Given the description of an element on the screen output the (x, y) to click on. 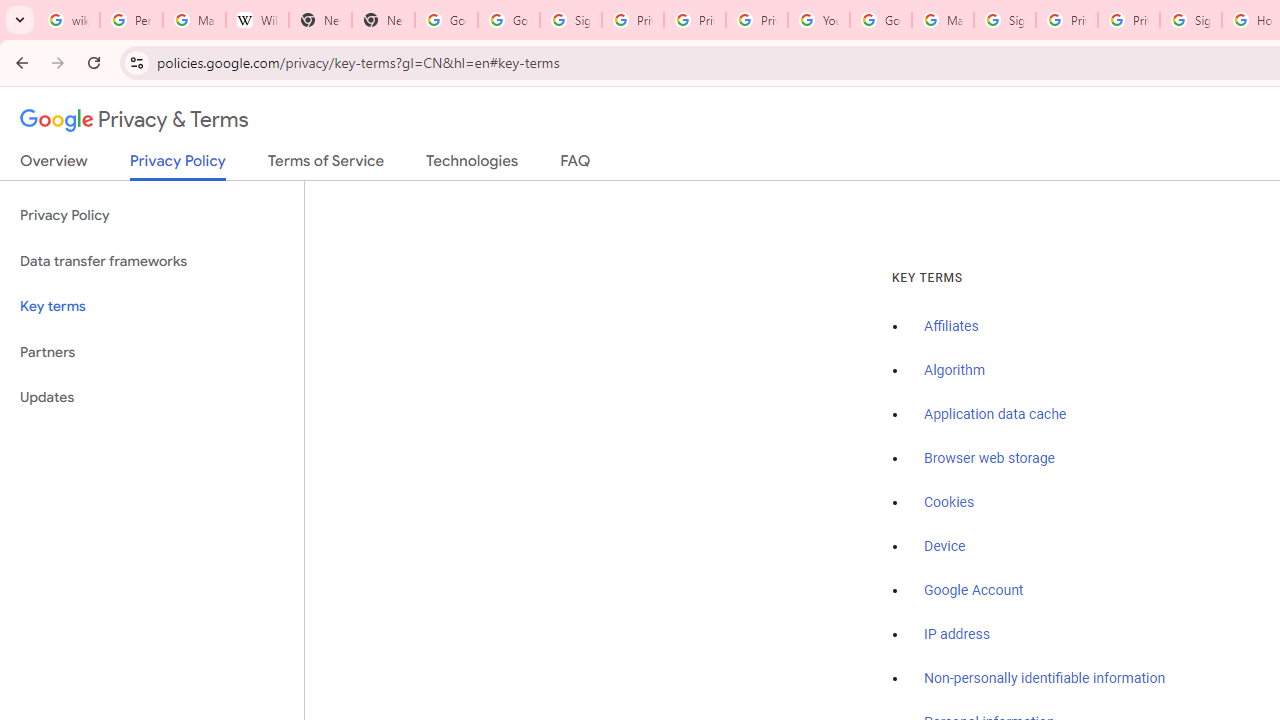
New Tab (320, 20)
Manage your Location History - Google Search Help (194, 20)
YouTube (818, 20)
Sign in - Google Accounts (1004, 20)
Overview (54, 165)
Browser web storage (989, 459)
Cookies (949, 502)
Google Account (974, 590)
Technologies (472, 165)
Updates (152, 398)
Non-personally identifiable information (1045, 679)
